Given the description of an element on the screen output the (x, y) to click on. 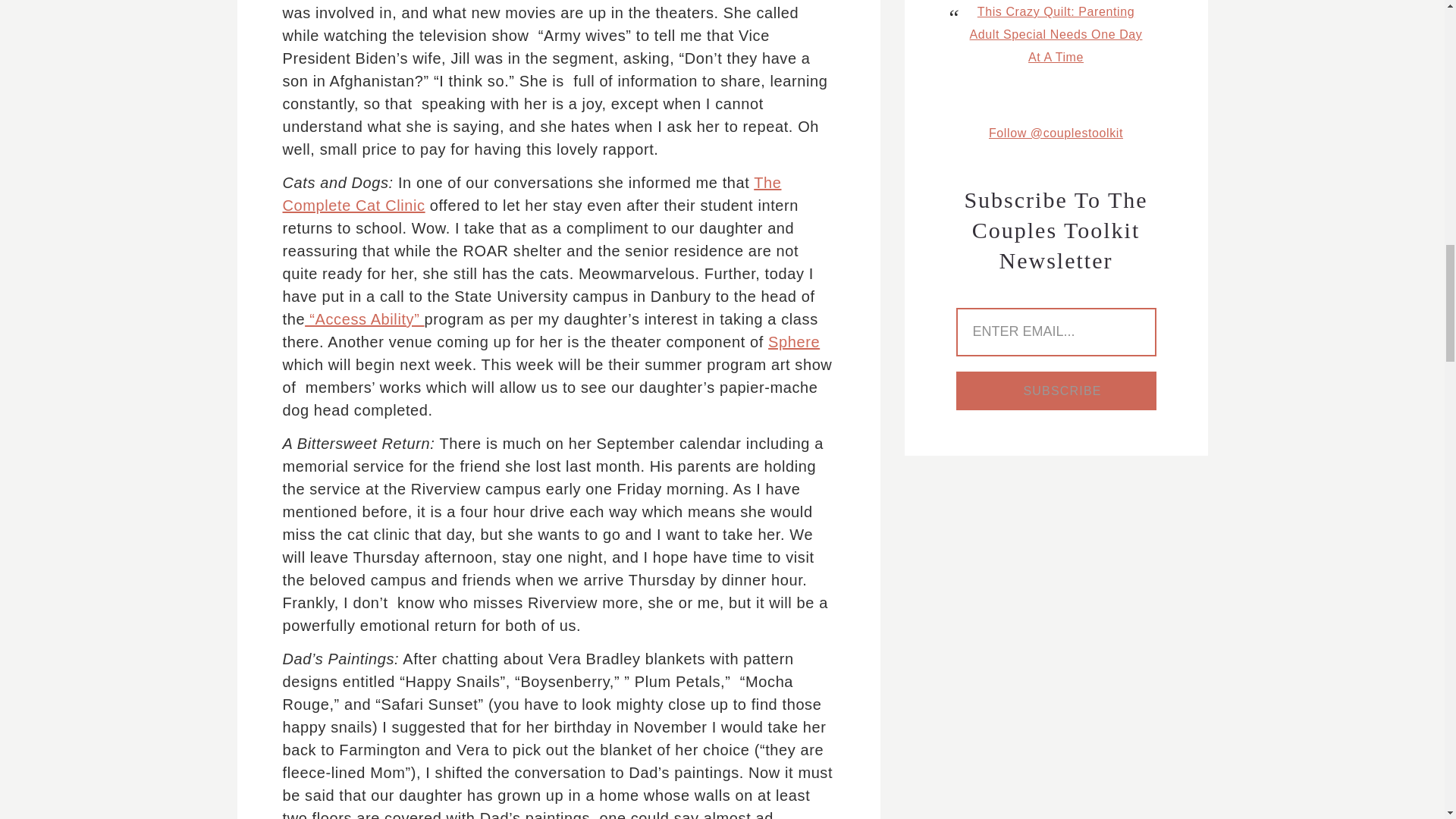
Sphere (793, 341)
Sphere (793, 341)
Subscribe (1055, 390)
Complete Cat Clinic (531, 193)
Access Ability (364, 319)
The Complete Cat Clinic (531, 193)
